Given the description of an element on the screen output the (x, y) to click on. 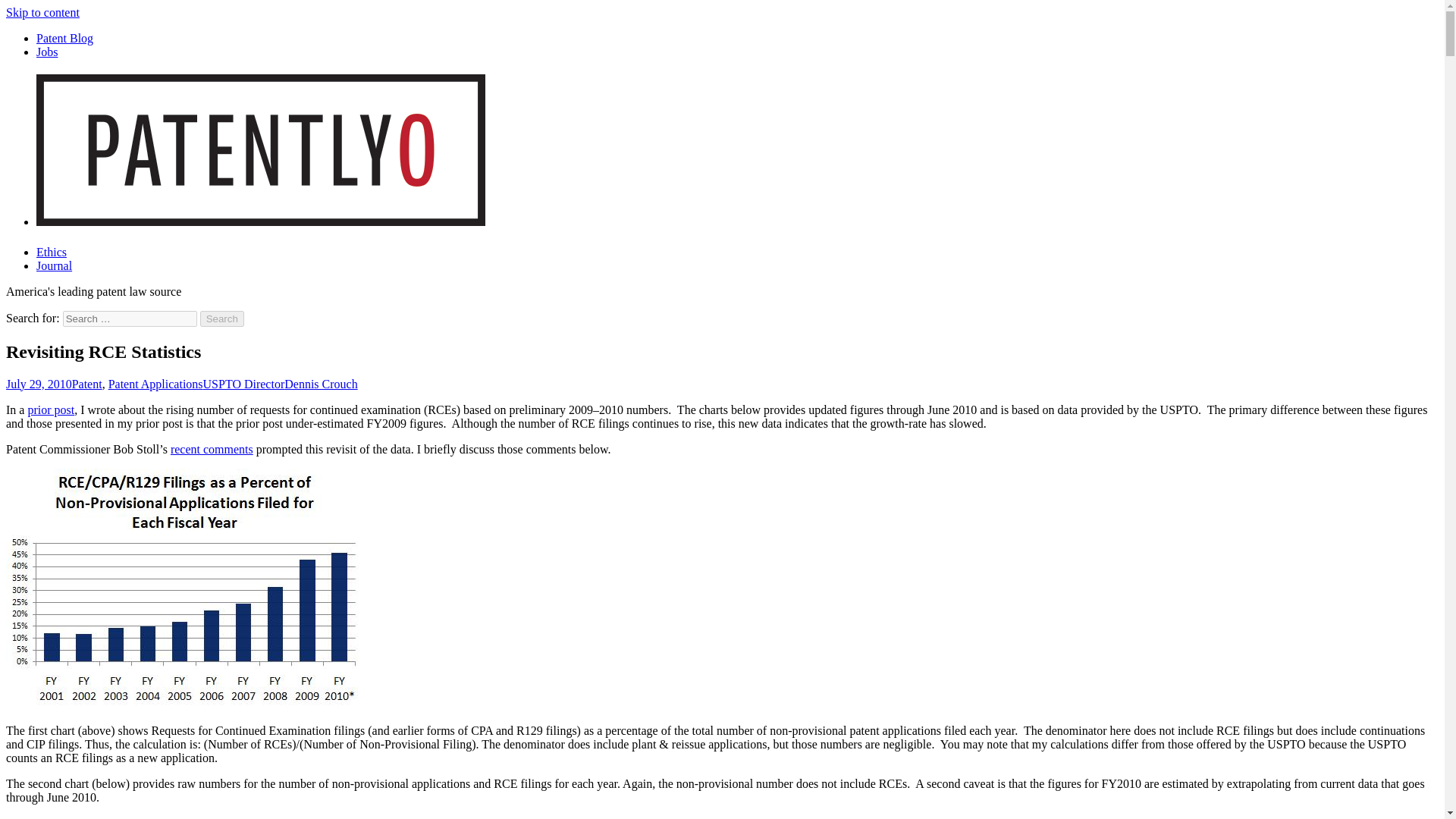
prior post (50, 409)
recent comments (211, 449)
Patent Law Journal from Patently-O (53, 265)
Dennis Crouch (319, 383)
July 29, 2010 (38, 383)
View all posts by Dennis Crouch (319, 383)
Skip to content (42, 11)
Jobs (47, 51)
Patent Applications (155, 383)
Permalink to Revisiting RCE Statistics (38, 383)
Skip to content (42, 11)
Patent law ethics by Hricik from Patently-O (51, 251)
Patent Blog (64, 38)
Search (222, 318)
USPTO Director (244, 383)
